Given the description of an element on the screen output the (x, y) to click on. 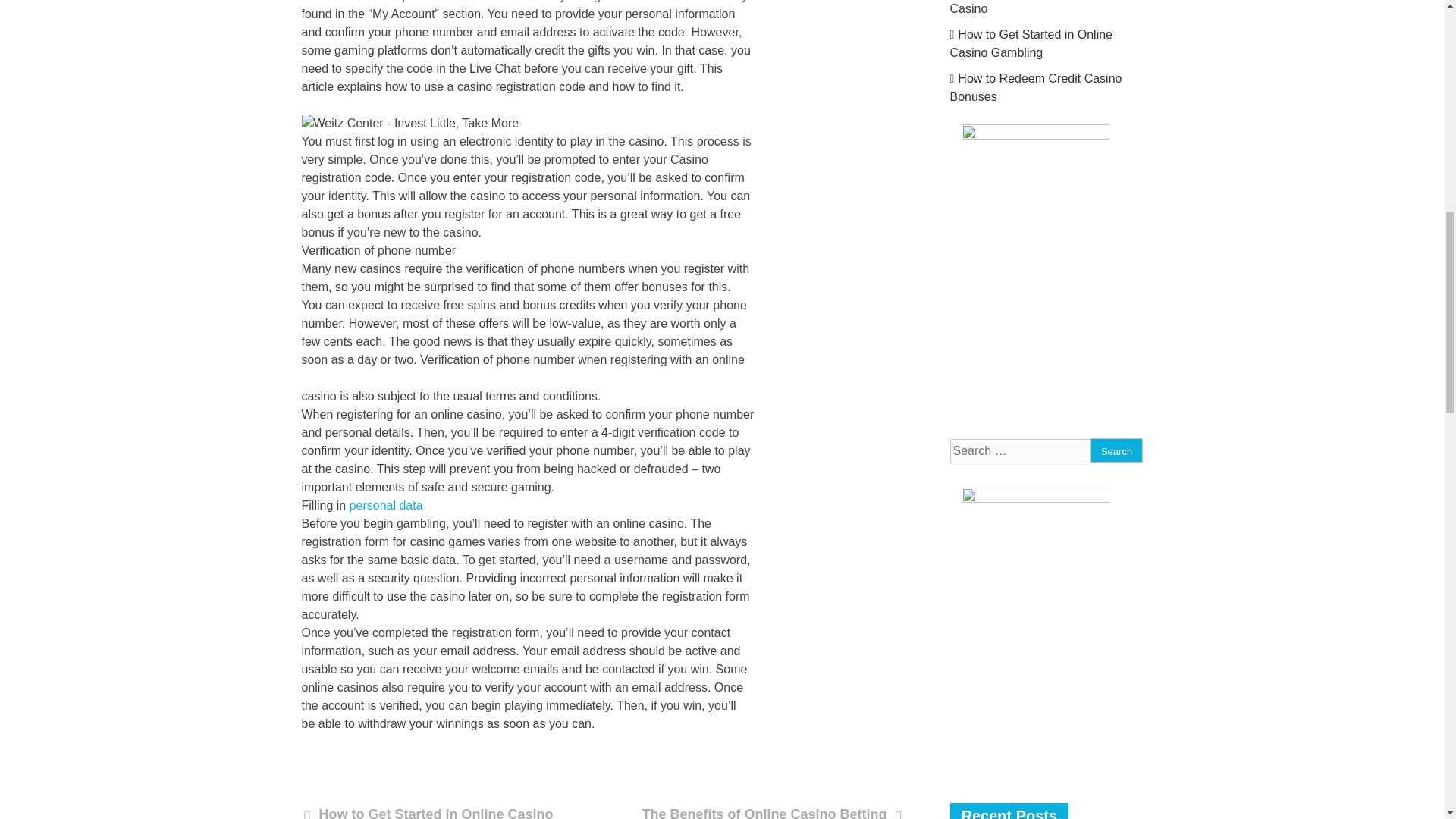
How to Register at an Online Casino (1030, 7)
How to Get Started in Online Casino Gambling (1030, 42)
How to Redeem Credit Casino Bonuses (1035, 87)
Search (1116, 450)
Search (1116, 450)
Search (1116, 450)
The Benefits of Online Casino Betting (767, 811)
How to Get Started in Online Casino Gambling (427, 811)
personal data (386, 504)
